Given the description of an element on the screen output the (x, y) to click on. 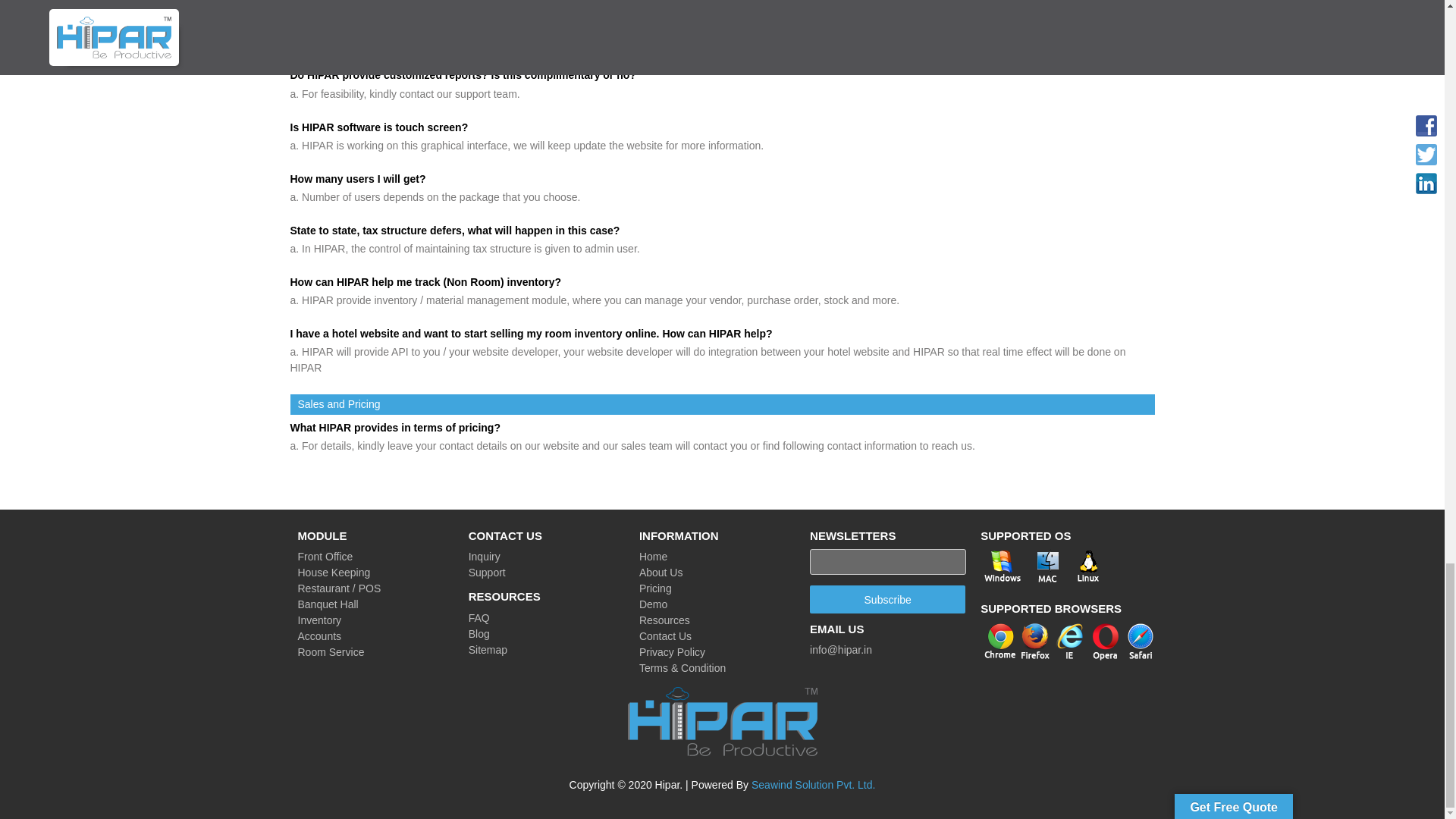
Banquet Hall (327, 604)
Subscribe (887, 599)
Room Service (330, 652)
About Us (660, 572)
Privacy Policy (671, 652)
House Keeping (333, 572)
Resources (664, 620)
Pricing (655, 588)
Inventory (318, 620)
Support (486, 572)
